Given the description of an element on the screen output the (x, y) to click on. 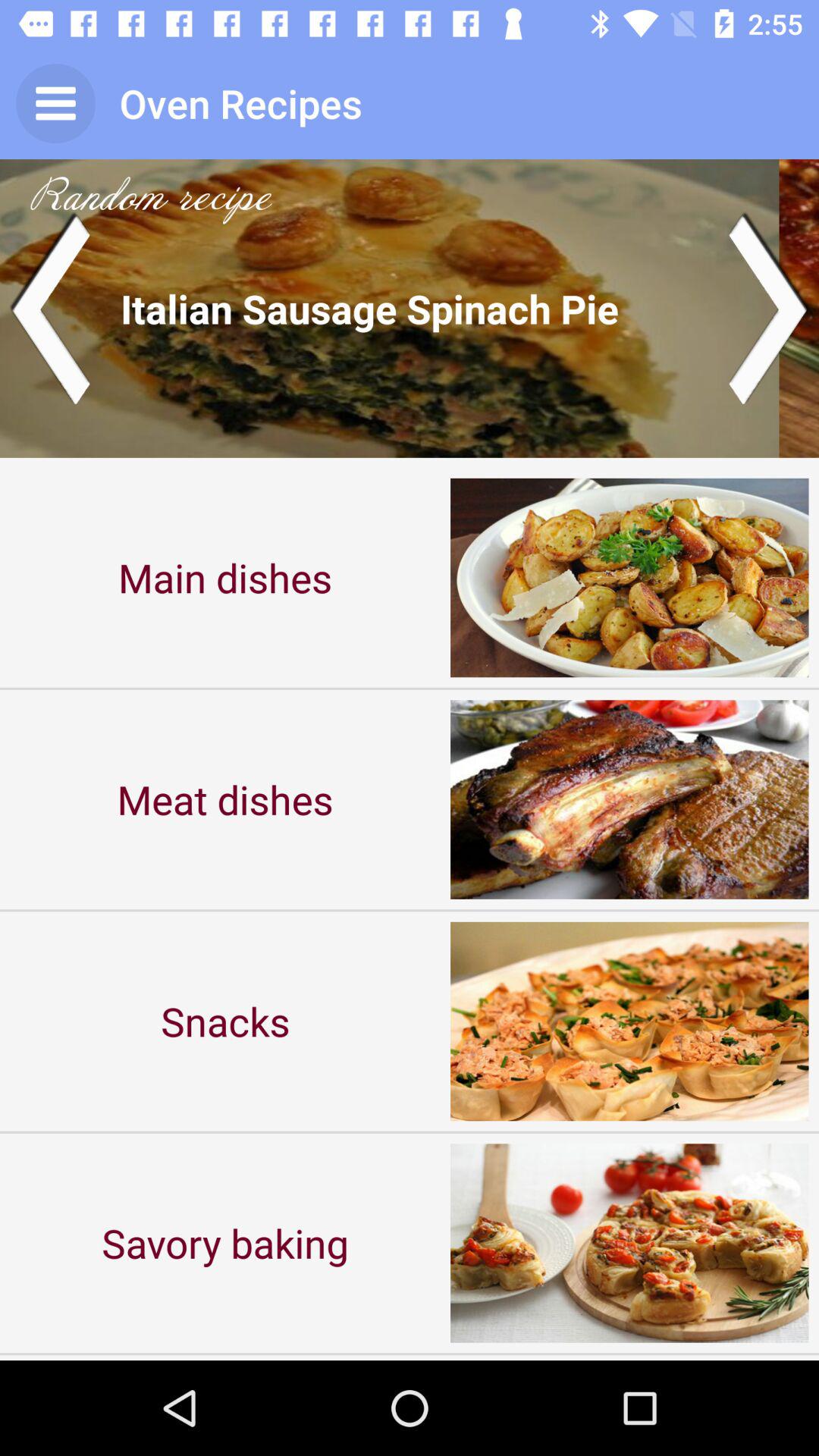
click the item above snacks item (225, 798)
